Given the description of an element on the screen output the (x, y) to click on. 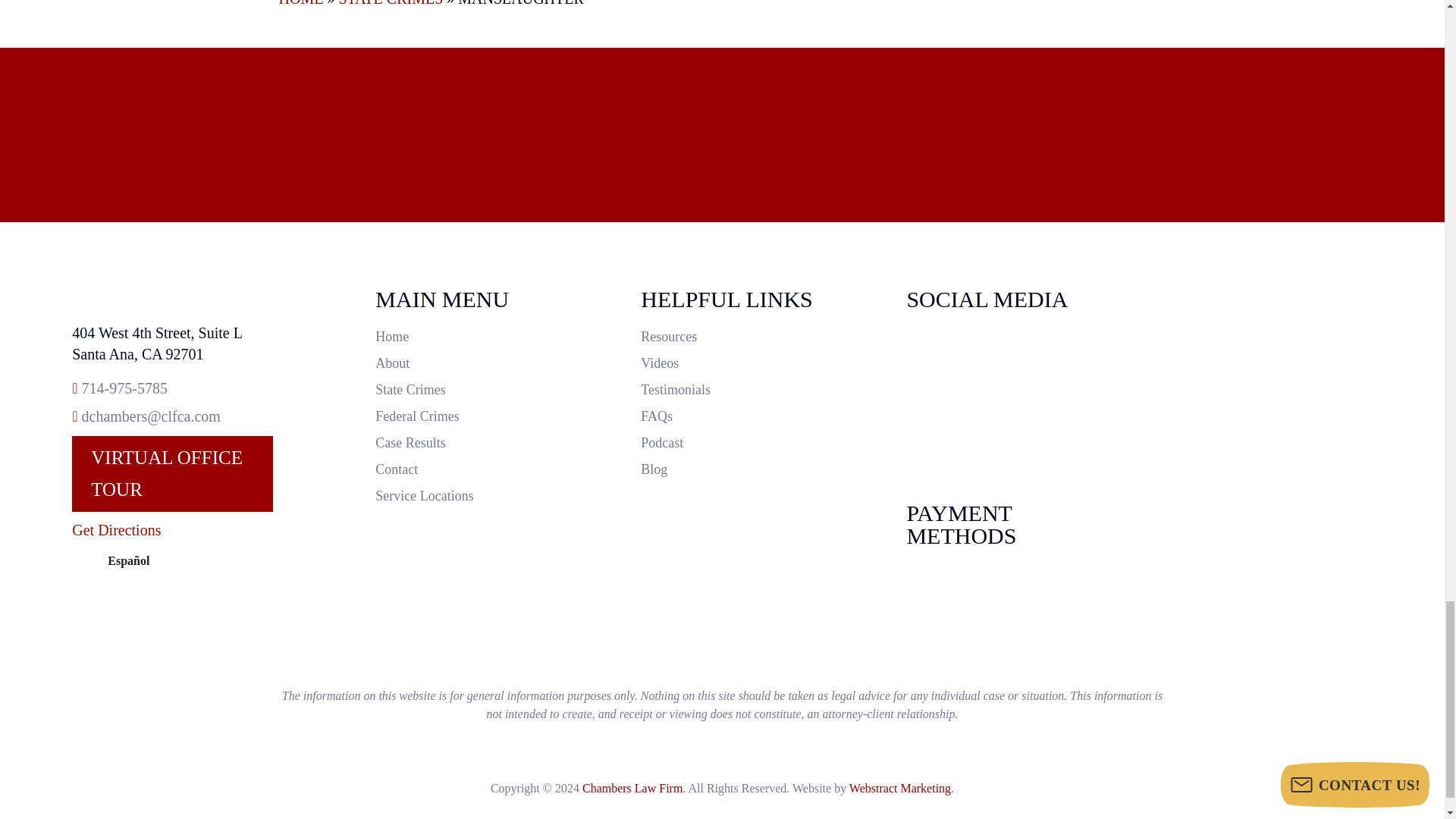
Facebook (1009, 395)
Get Directions (115, 529)
TikTok (1009, 369)
Instagram (1009, 344)
Chambers Law Firm (171, 296)
Email (151, 416)
Yelp (1009, 446)
Avvo (1009, 421)
